Given the description of an element on the screen output the (x, y) to click on. 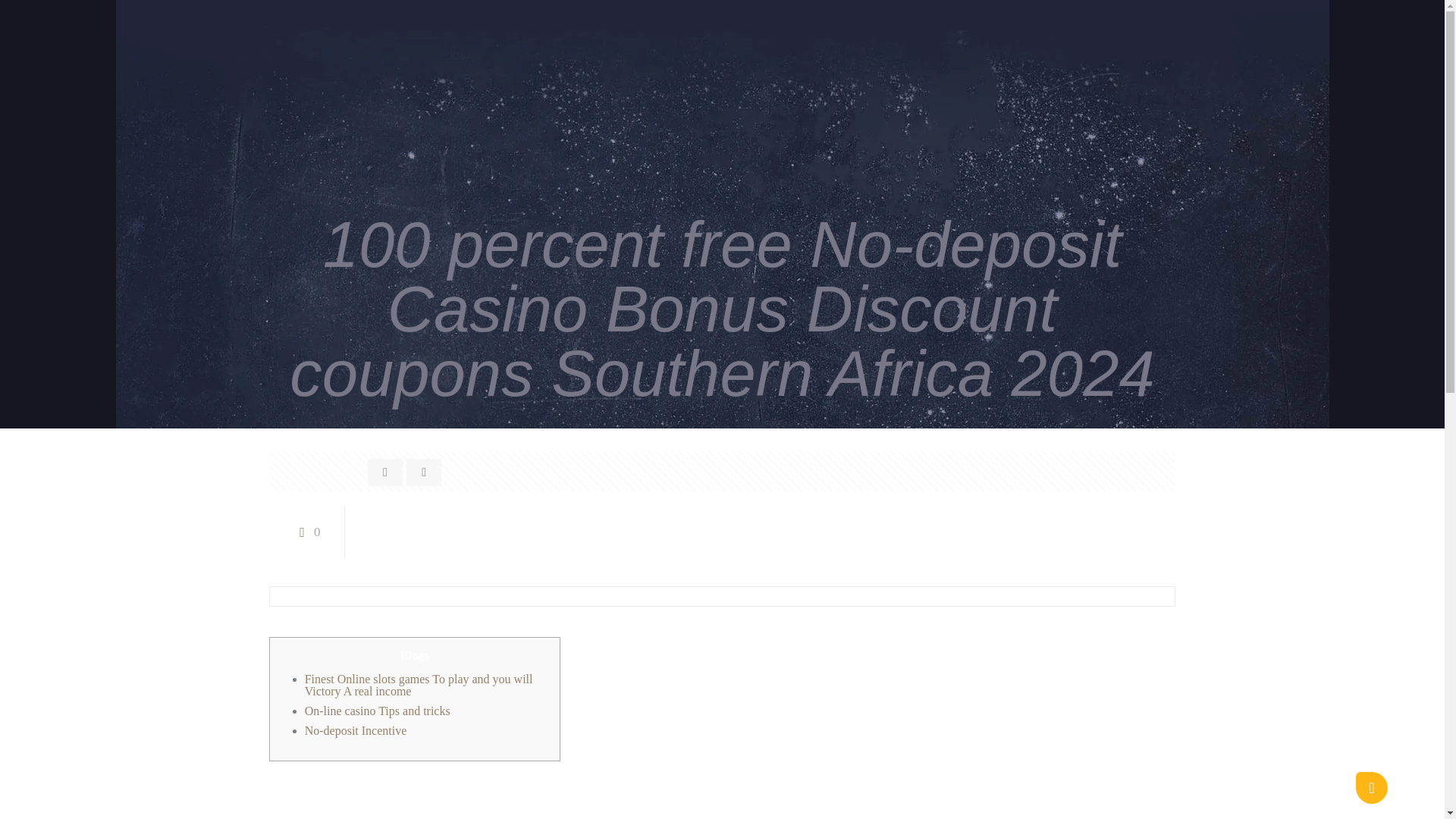
On-line casino Tips and tricks (376, 710)
No-deposit Incentive (355, 730)
0 (306, 531)
